Given the description of an element on the screen output the (x, y) to click on. 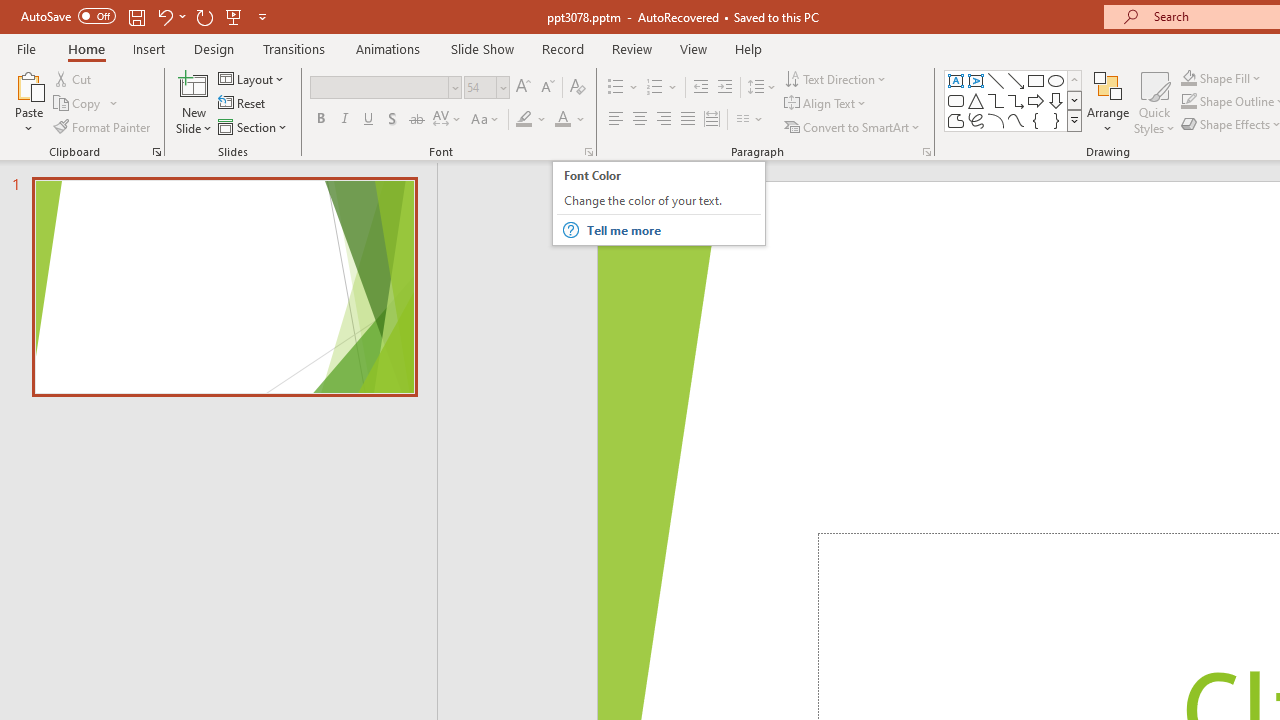
Clear Formatting (577, 87)
Format Painter (103, 126)
Right Brace (1055, 120)
Left Brace (1035, 120)
Line Arrow (1016, 80)
Arrow: Right (1035, 100)
Quick Access Toolbar (145, 16)
Align Text (826, 103)
View (693, 48)
AutoSave (68, 16)
Oval (1055, 80)
Transitions (294, 48)
Tell me more (672, 230)
File Tab (26, 48)
Line Spacing (762, 87)
